Given the description of an element on the screen output the (x, y) to click on. 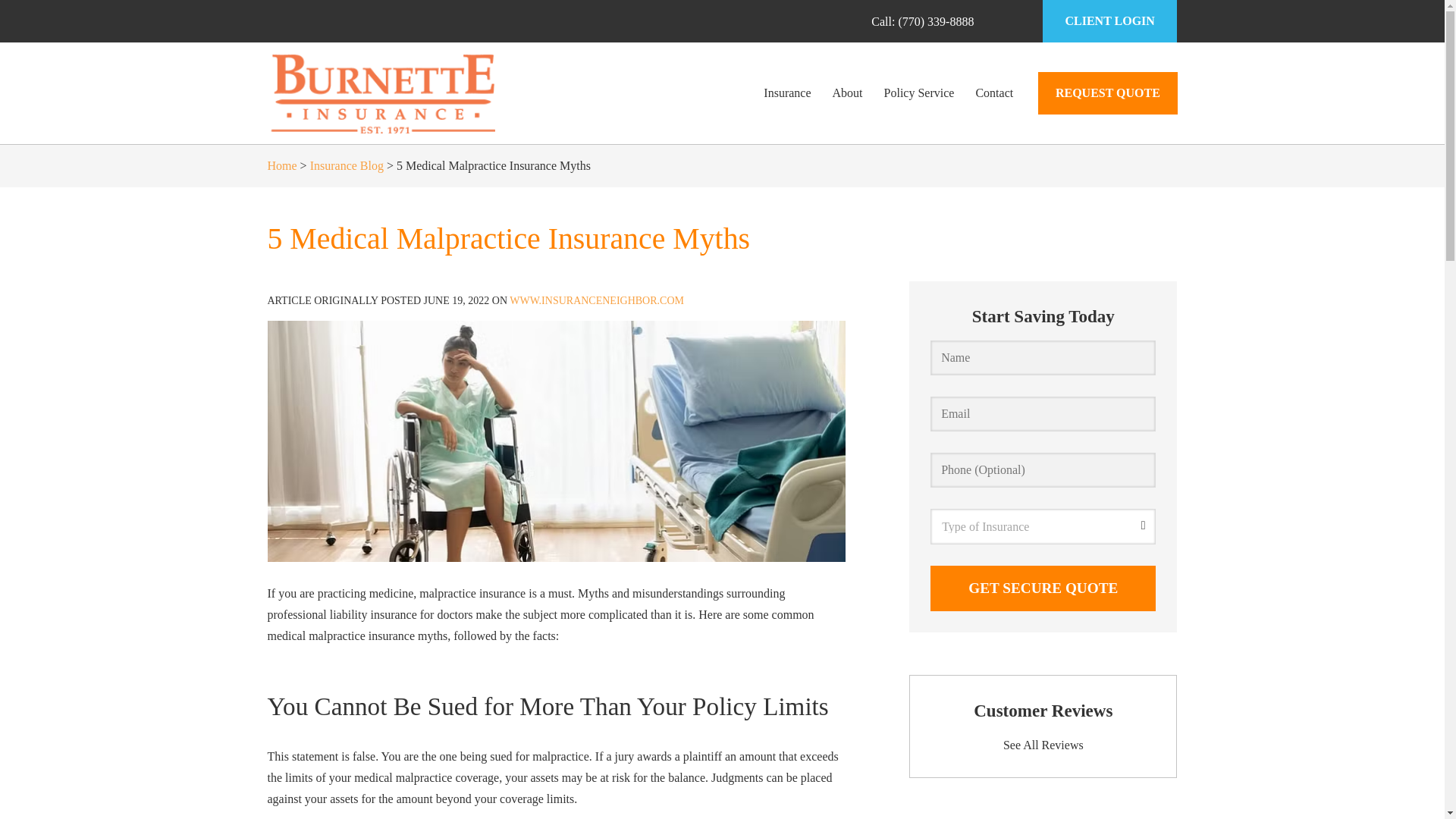
Get Secure Quote (1043, 587)
Home Page (411, 93)
Insurance (786, 93)
logo (380, 93)
About (847, 93)
